Given the description of an element on the screen output the (x, y) to click on. 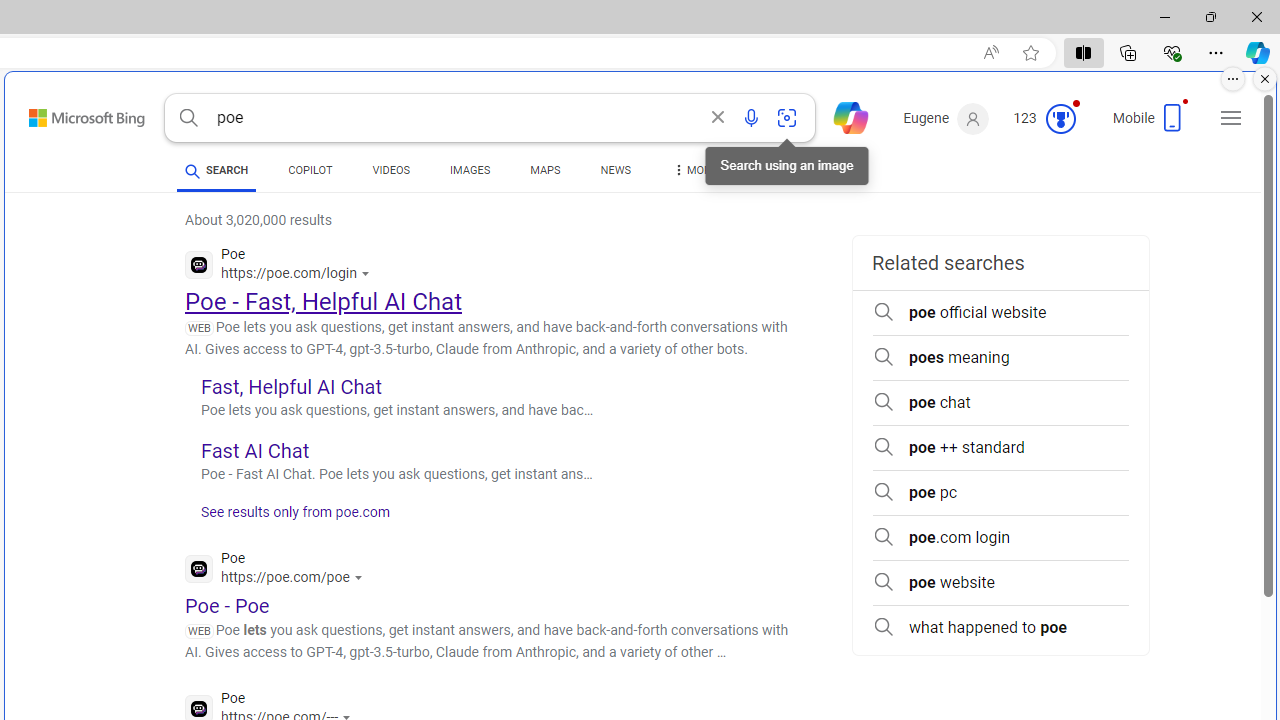
Class: medal-circled (1060, 118)
Eugene (945, 119)
Poe - Fast, Helpful AI Chat (323, 301)
MAPS (545, 173)
MAPS (545, 170)
TOOLS (777, 173)
Search using voice (751, 117)
Global web icon (198, 708)
Clear text (717, 117)
Chat (842, 116)
See results only from poe.com (287, 517)
TOOLS (777, 170)
SEARCH (216, 170)
